Given the description of an element on the screen output the (x, y) to click on. 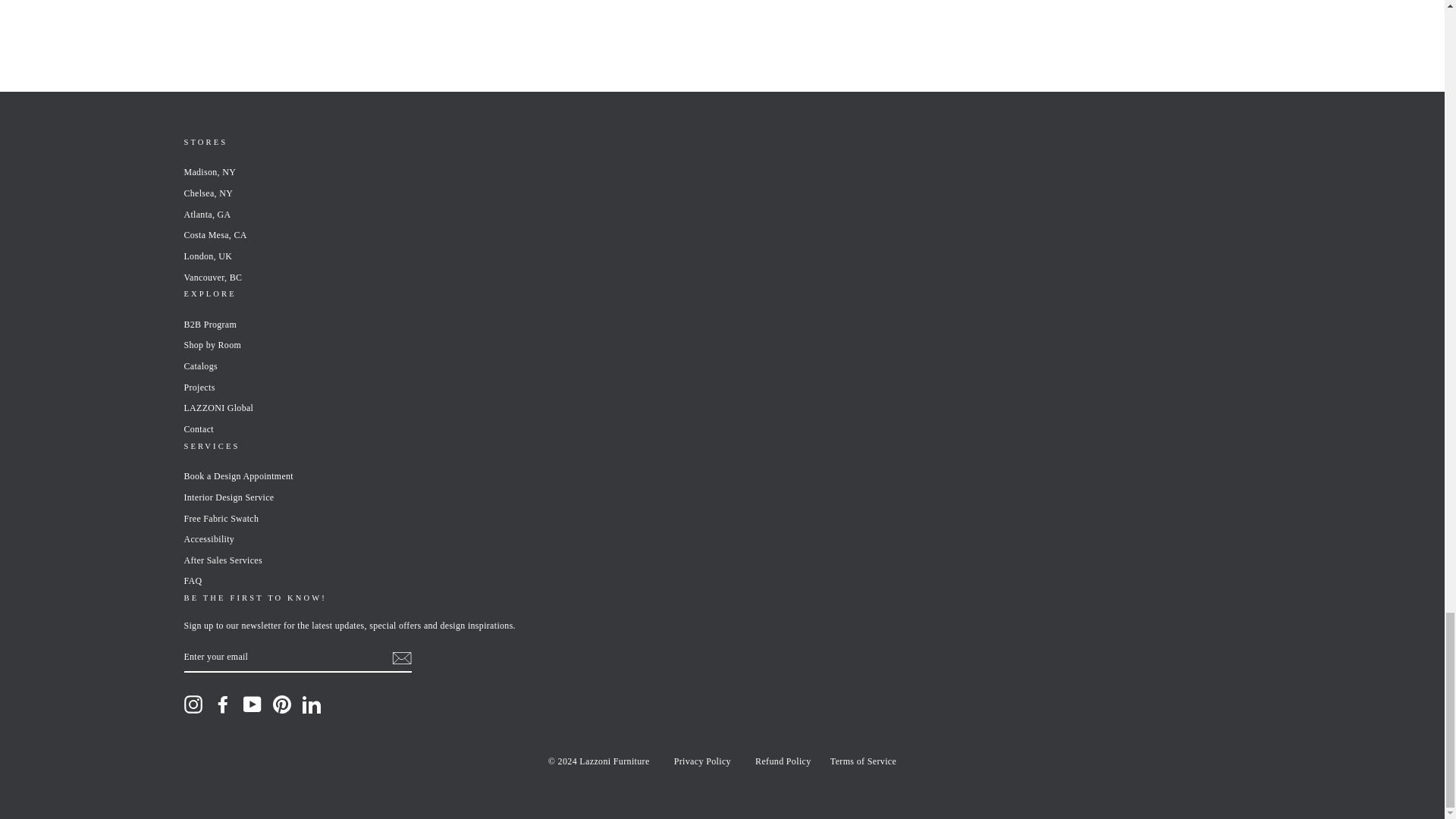
Lazzoni Furniture on YouTube (251, 704)
Lazzoni Furniture on LinkedIn (310, 704)
Lazzoni Furniture on Instagram (192, 704)
Lazzoni Furniture on Facebook (222, 704)
Lazzoni Furniture on Pinterest (282, 704)
